Given the description of an element on the screen output the (x, y) to click on. 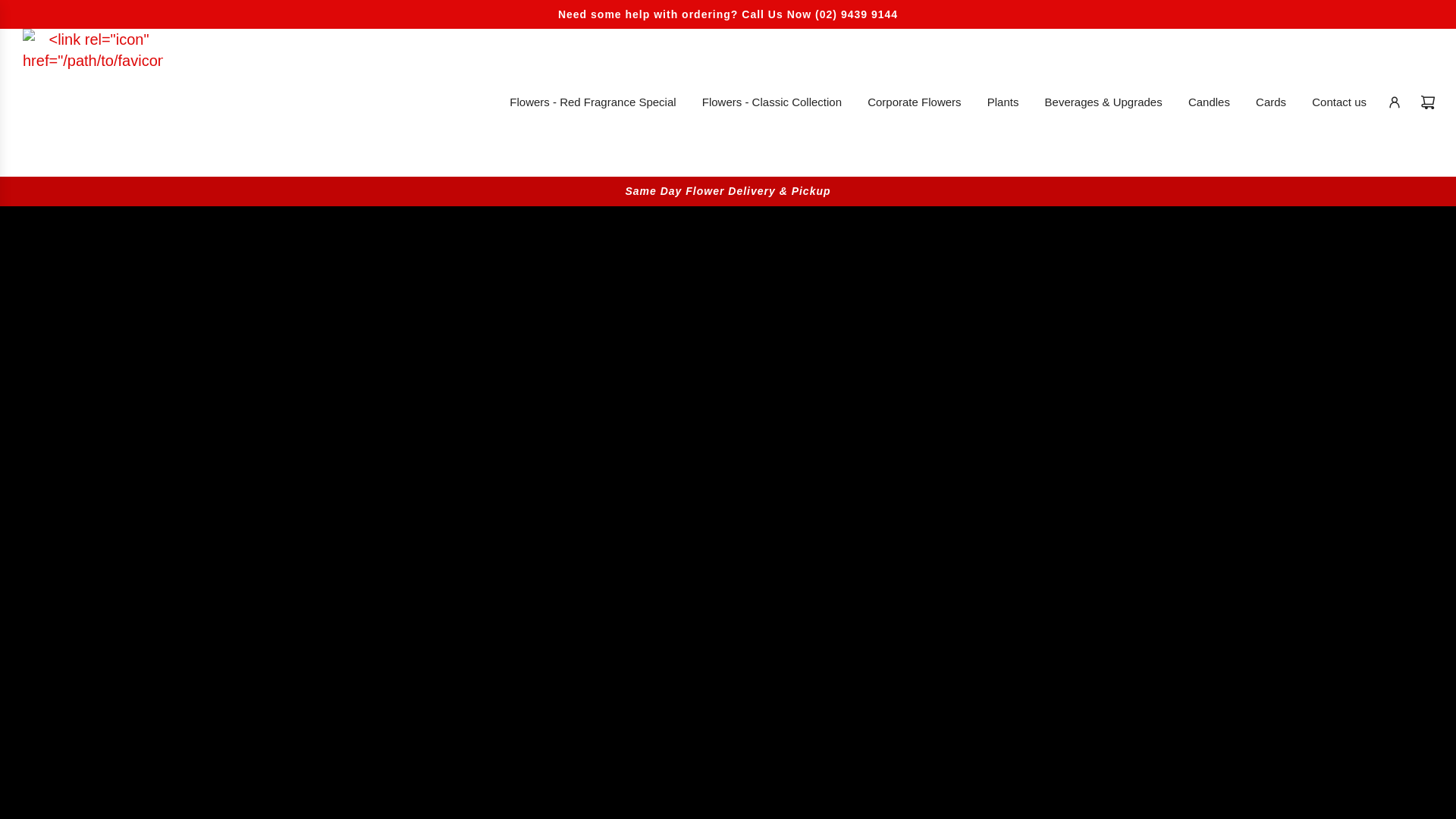
Flowers - Classic Collection (771, 101)
Corporate Flowers (914, 101)
Flowers - Red Fragrance Special (592, 101)
Cards (1270, 101)
Contact us (1338, 101)
Candles (1208, 101)
Plants (1002, 101)
